Given the description of an element on the screen output the (x, y) to click on. 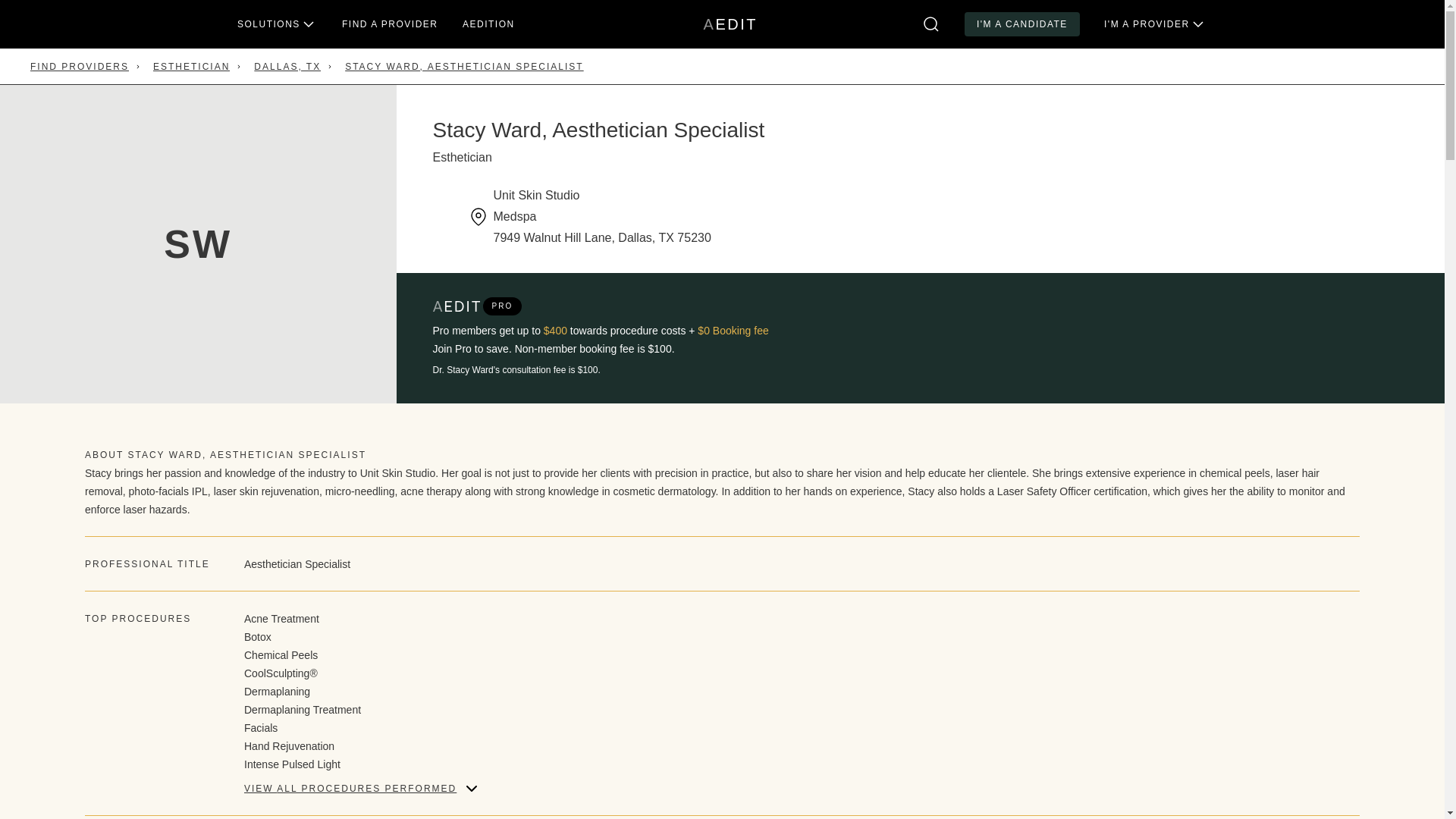
AEDITION (730, 24)
ESTHETICIAN (489, 24)
DALLAS, TX (191, 66)
FIND PROVIDERS (286, 66)
I'M A CANDIDATE (79, 66)
FIND A PROVIDER (1021, 24)
